Given the description of an element on the screen output the (x, y) to click on. 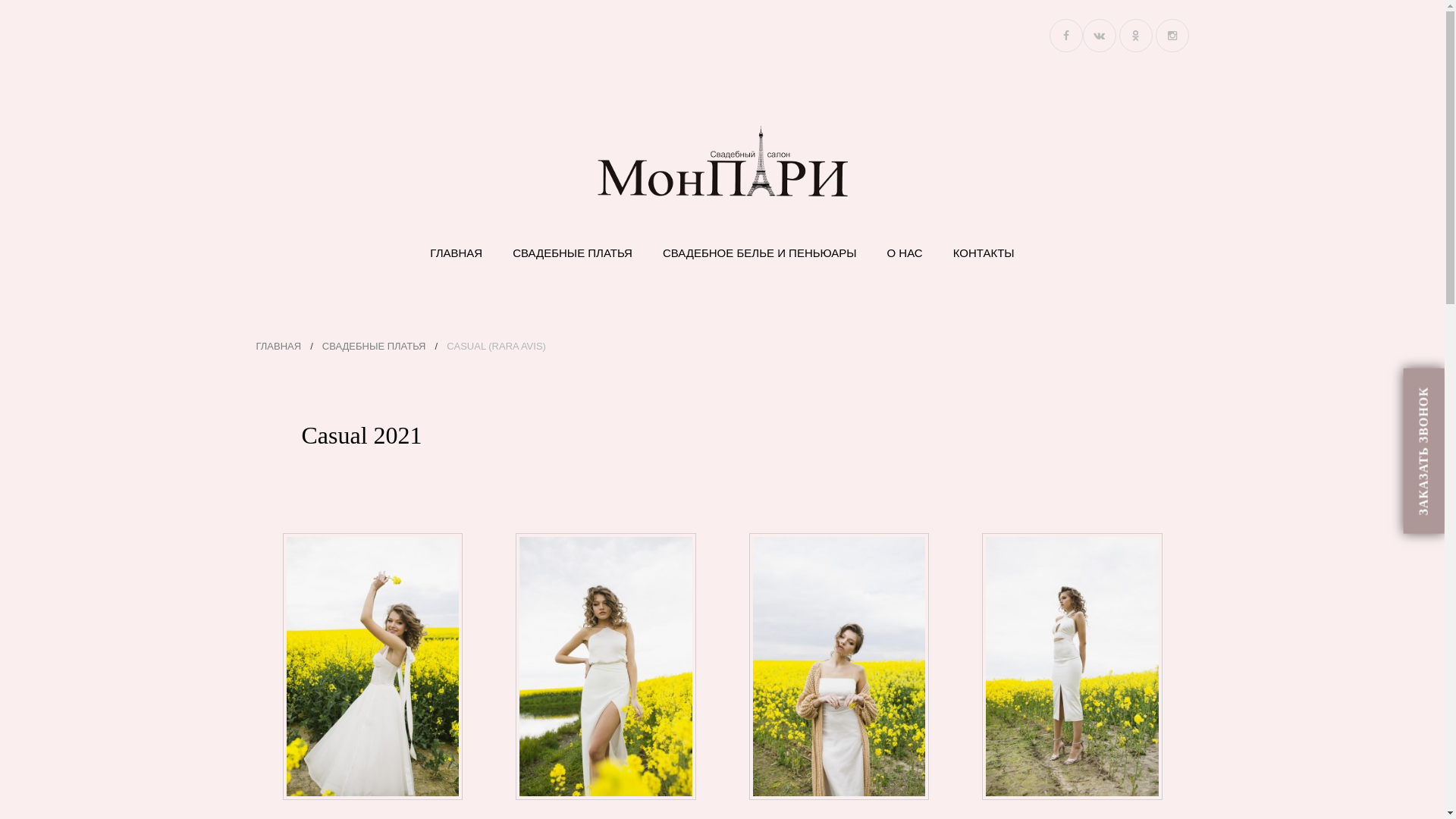
Jacqueline top+Pako skirt  Element type: hover (1071, 664)
Iv Element type: hover (838, 664)
Dona+Donatella Element type: hover (605, 664)
Coco Element type: hover (372, 664)
